Given the description of an element on the screen output the (x, y) to click on. 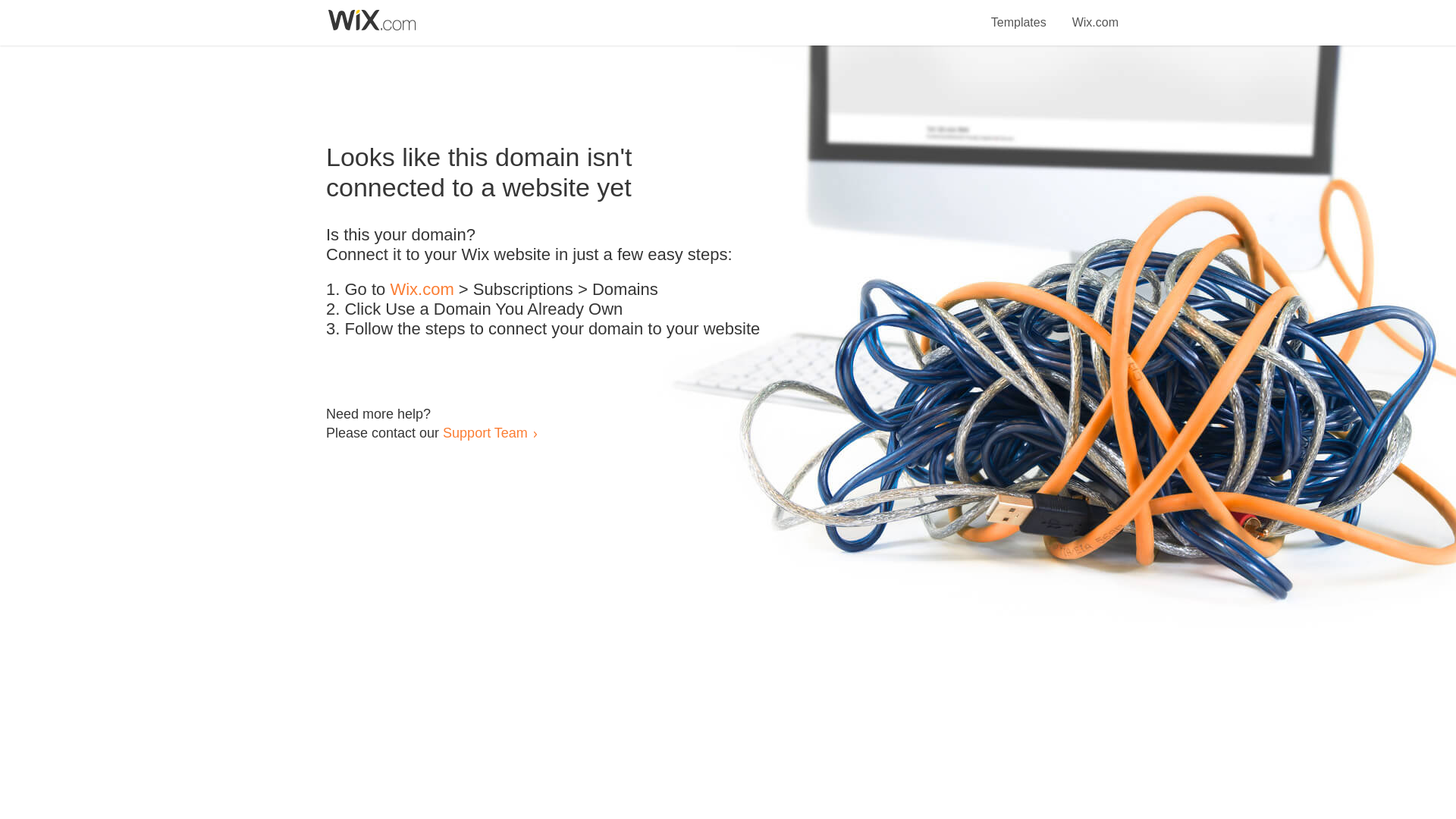
Templates (1018, 14)
Wix.com (421, 289)
Support Team (484, 432)
Wix.com (1095, 14)
